Given the description of an element on the screen output the (x, y) to click on. 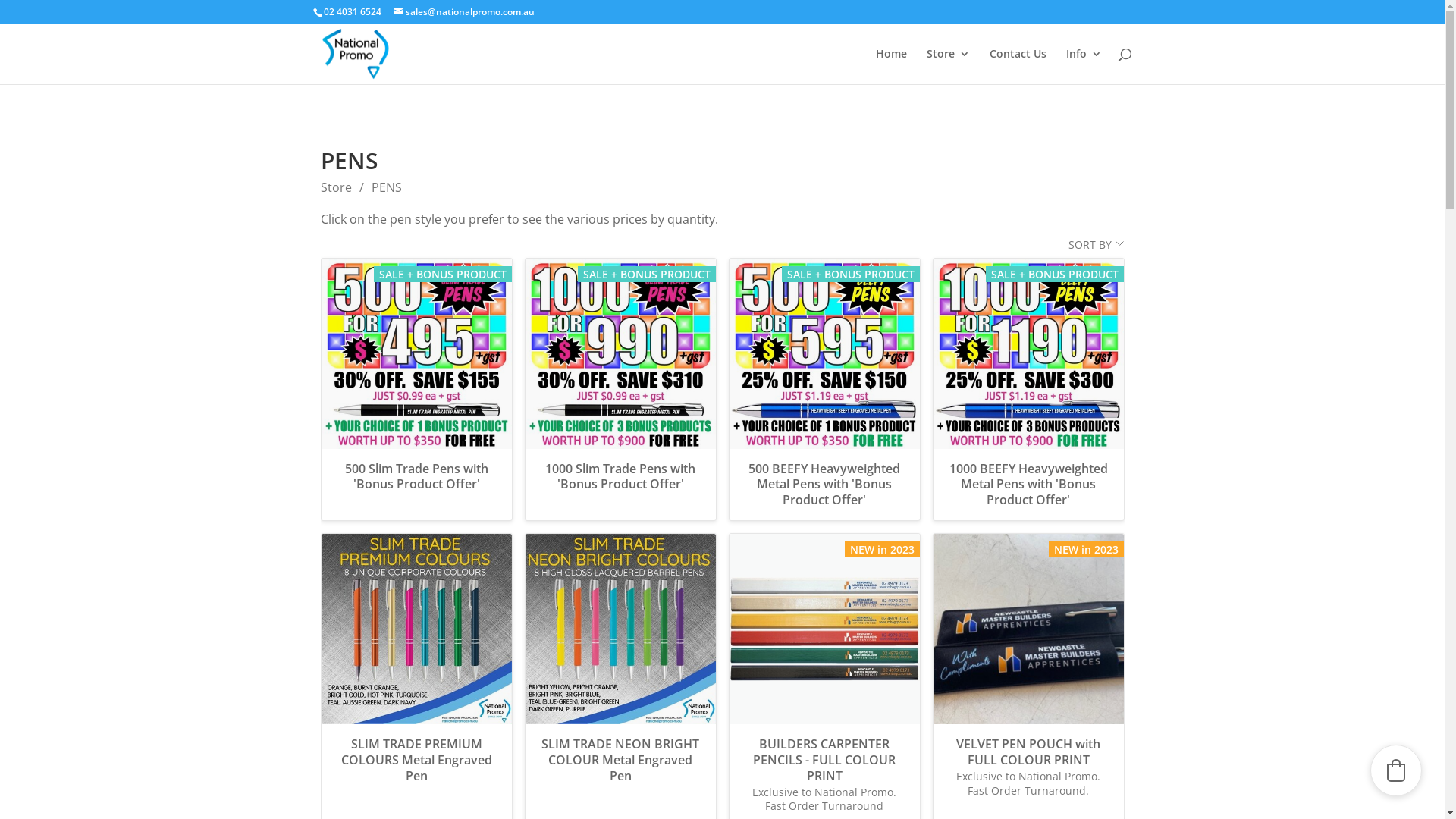
NEW in 2023 Element type: text (824, 628)
Info Element type: text (1083, 66)
SLIM TRADE PREMIUM COLOURS Metal Engraved Pen Element type: text (416, 765)
SALE + BONUS PRODUCT Element type: text (824, 353)
SLIM TRADE PREMIUM COLOURS Metal Engraved Pen Element type: hover (416, 628)
Store Element type: text (947, 66)
Store Element type: text (335, 186)
Contact Us Element type: text (1016, 66)
NEW in 2023 Element type: text (1027, 628)
SLIM TRADE NEON BRIGHT COLOUR Metal Engraved Pen Element type: hover (619, 628)
PENS Element type: text (386, 186)
BUILDERS CARPENTER PENCILS - FULL COLOUR PRINT Element type: text (824, 759)
VELVET PEN POUCH with FULL COLOUR PRINT Element type: hover (1028, 628)
SALE + BONUS PRODUCT Element type: text (1027, 353)
SLIM TRADE NEON BRIGHT COLOUR Metal Engraved Pen Element type: text (619, 765)
1000 Slim Trade Pens with 'Bonus Product Offer' Element type: hover (619, 353)
1000 Slim Trade Pens with 'Bonus Product Offer' Element type: text (619, 483)
500 Slim Trade Pens with 'Bonus Product Offer' Element type: text (416, 483)
BUILDERS CARPENTER PENCILS - FULL COLOUR PRINT Element type: hover (824, 628)
500 Slim Trade Pens with 'Bonus Product Offer' Element type: hover (416, 353)
VELVET PEN POUCH with FULL COLOUR PRINT Element type: text (1027, 752)
sales@nationalpromo.com.au Element type: text (462, 11)
SALE + BONUS PRODUCT Element type: text (619, 353)
SALE + BONUS PRODUCT Element type: text (416, 353)
Home Element type: text (890, 66)
